Given the description of an element on the screen output the (x, y) to click on. 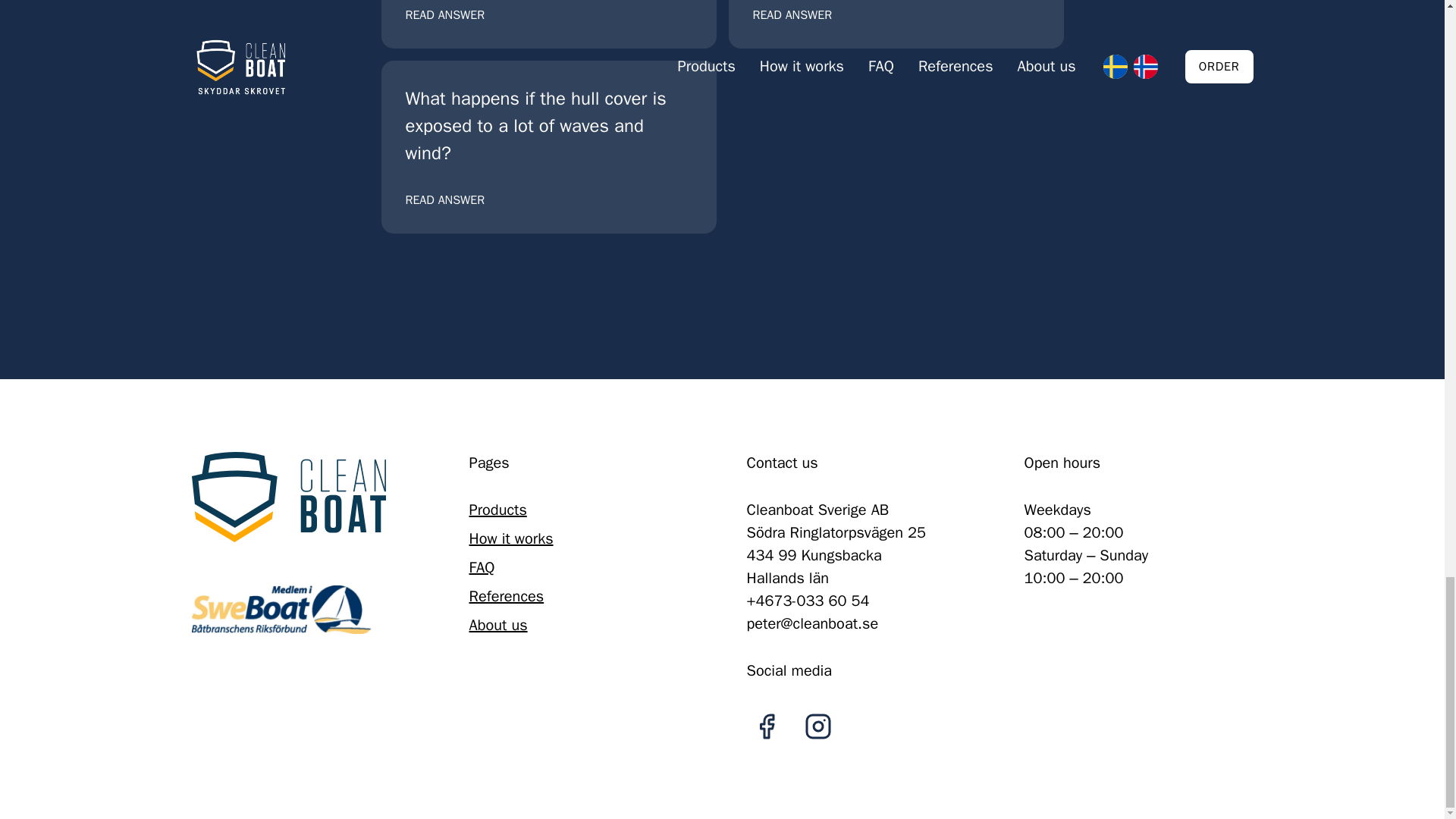
Products (496, 509)
FAQ (895, 24)
How it works (481, 567)
References (510, 538)
About us (505, 596)
